Given the description of an element on the screen output the (x, y) to click on. 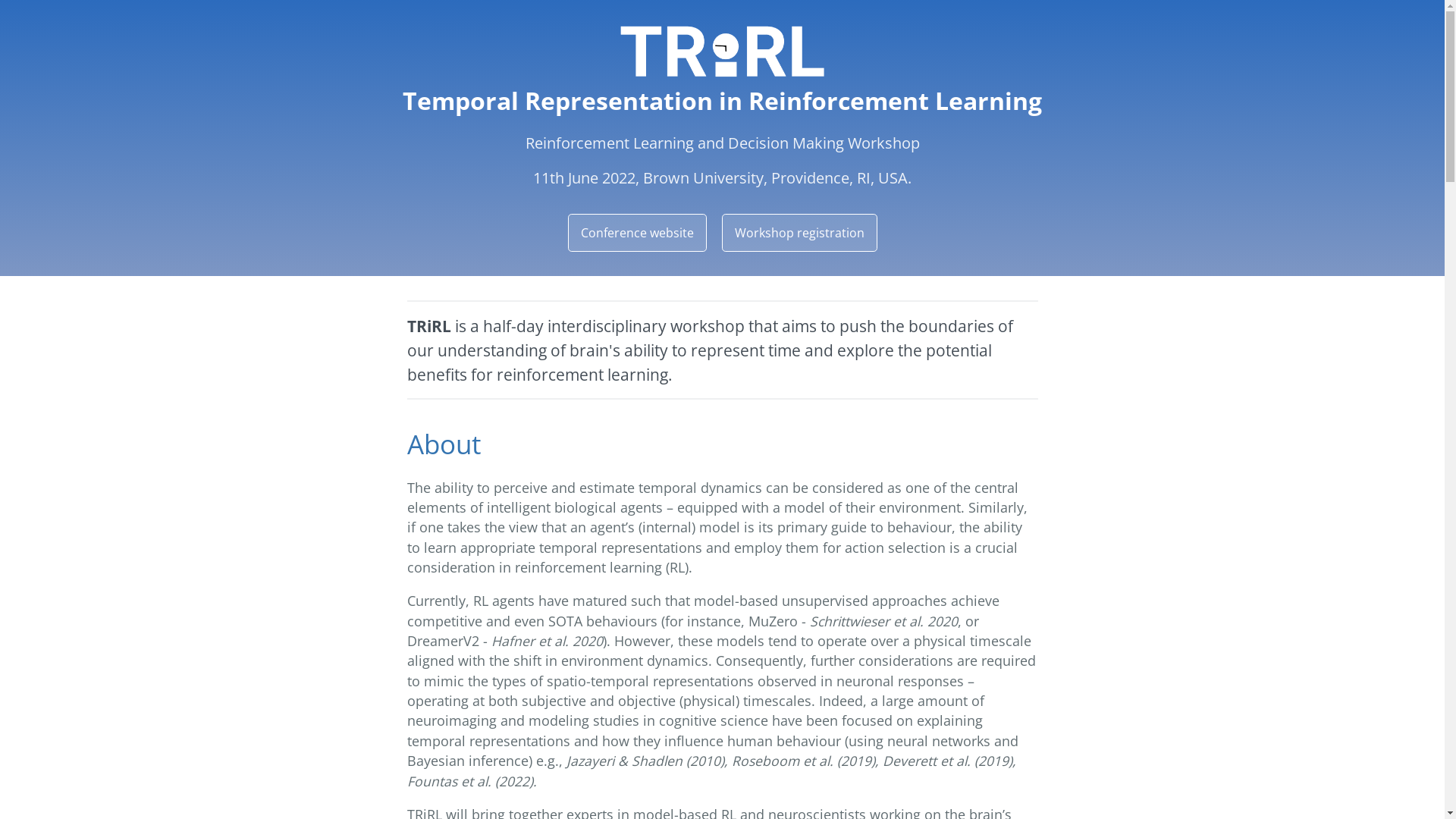
Workshop registration Element type: text (799, 232)
Conference website Element type: text (636, 232)
